Given the description of an element on the screen output the (x, y) to click on. 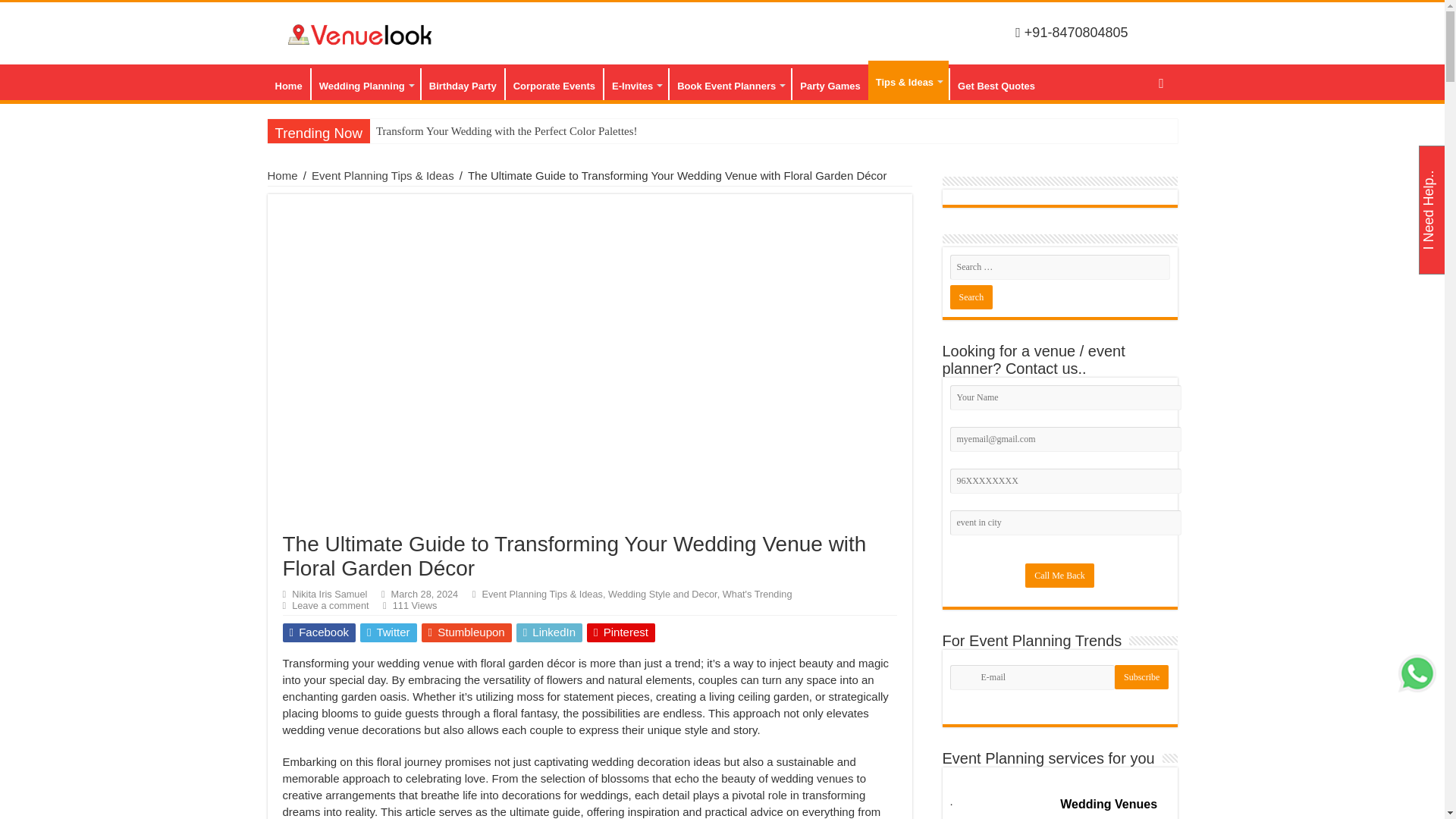
VenueLook Blog (361, 31)
Search (970, 297)
Book Event Planners (729, 83)
Transform Your Wedding with the Perfect Color Palettes! (541, 131)
Call Me Back (1059, 575)
Random Article (1160, 81)
Get Best Quotes (995, 83)
Subscribe (1142, 677)
E-Invites (636, 83)
Party Games (829, 83)
Corporate Events (553, 83)
Transform Your Wedding with the Perfect Color Palettes! (541, 131)
Search (970, 297)
Birthday Party (461, 83)
Home (287, 83)
